Given the description of an element on the screen output the (x, y) to click on. 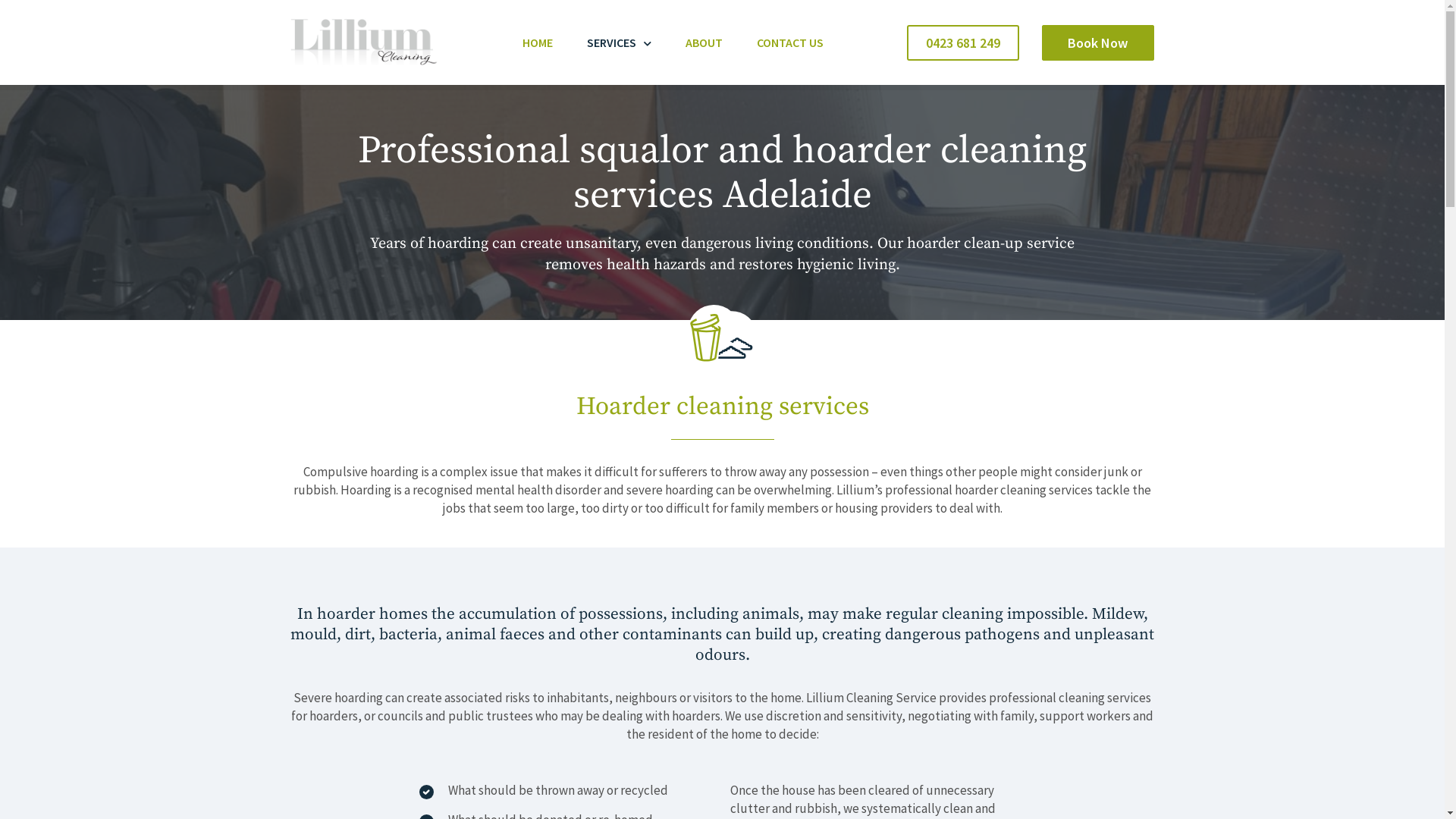
SERVICES Element type: text (618, 42)
CONTACT US Element type: text (789, 42)
HOME Element type: text (537, 42)
Book Now Element type: text (1097, 41)
ABOUT Element type: text (703, 42)
0423 681 249 Element type: text (962, 41)
